Given the description of an element on the screen output the (x, y) to click on. 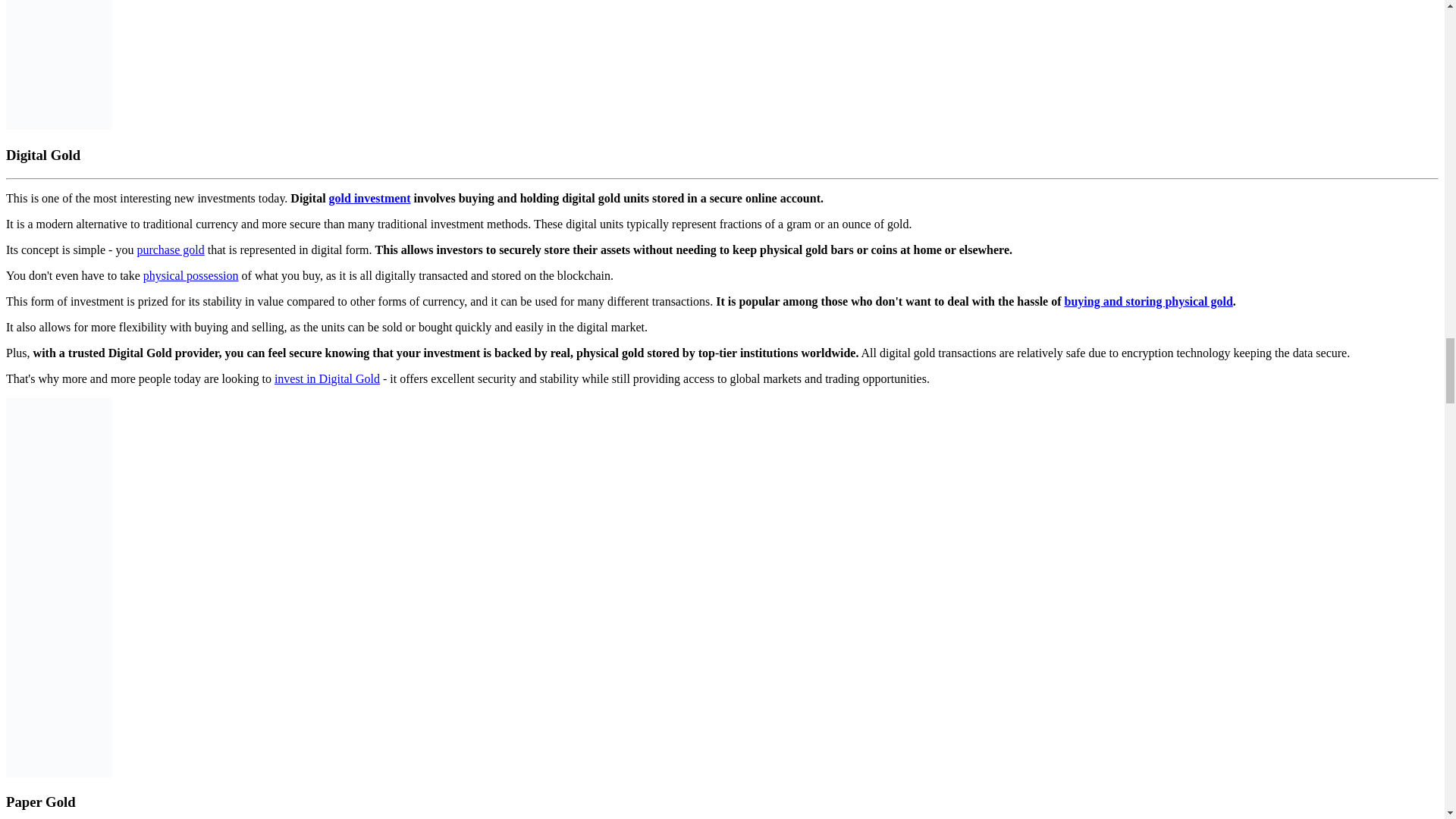
physical possession (190, 275)
Investing In Gold Tax Free (58, 64)
gold investment (369, 197)
invest in Digital Gold (327, 378)
buying and storing physical gold (1148, 300)
Investing In Gold Tax Free (58, 587)
purchase gold (169, 249)
